Given the description of an element on the screen output the (x, y) to click on. 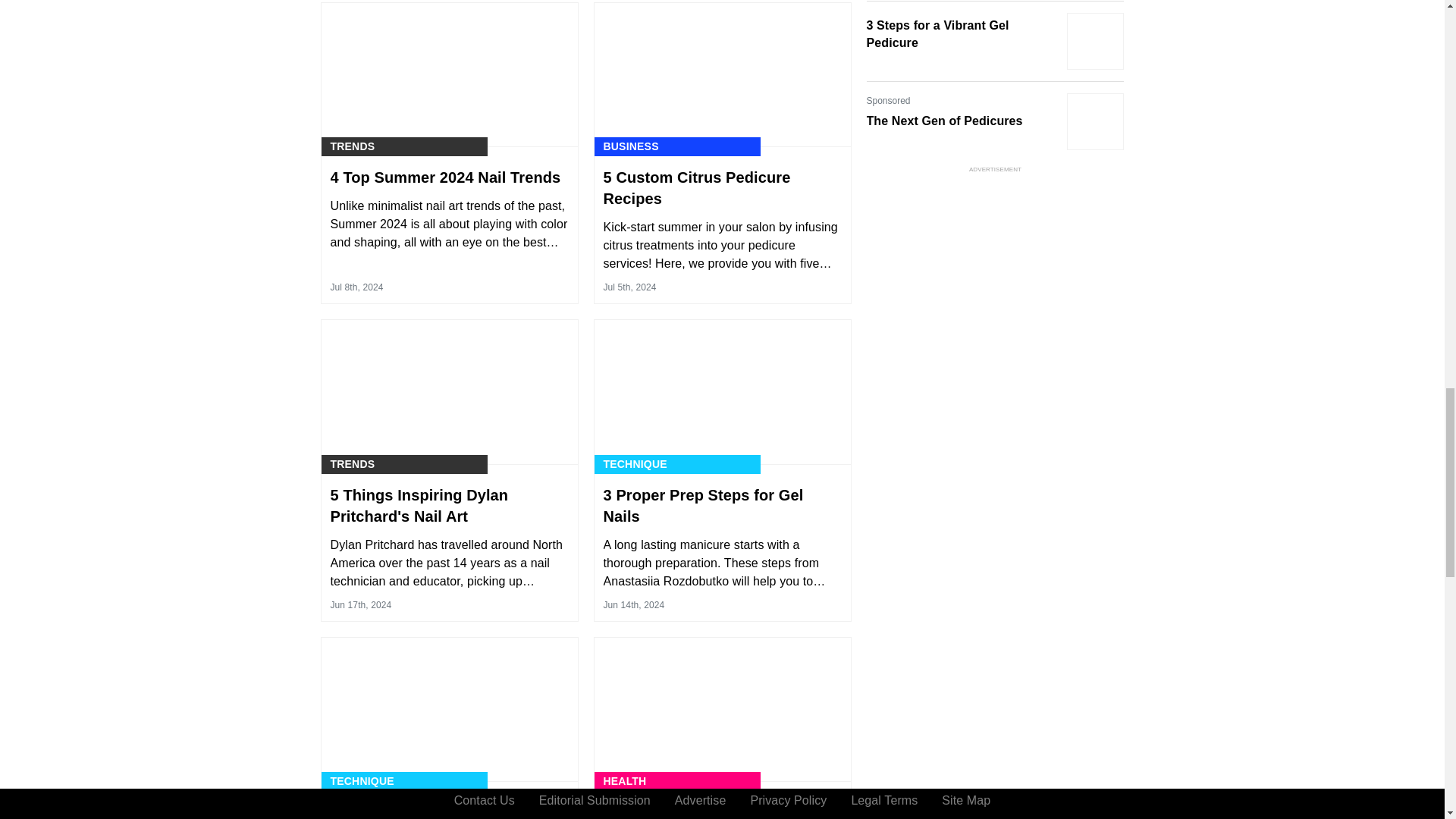
Business (631, 146)
Health (625, 781)
Technique (635, 464)
Technique (362, 781)
